Given the description of an element on the screen output the (x, y) to click on. 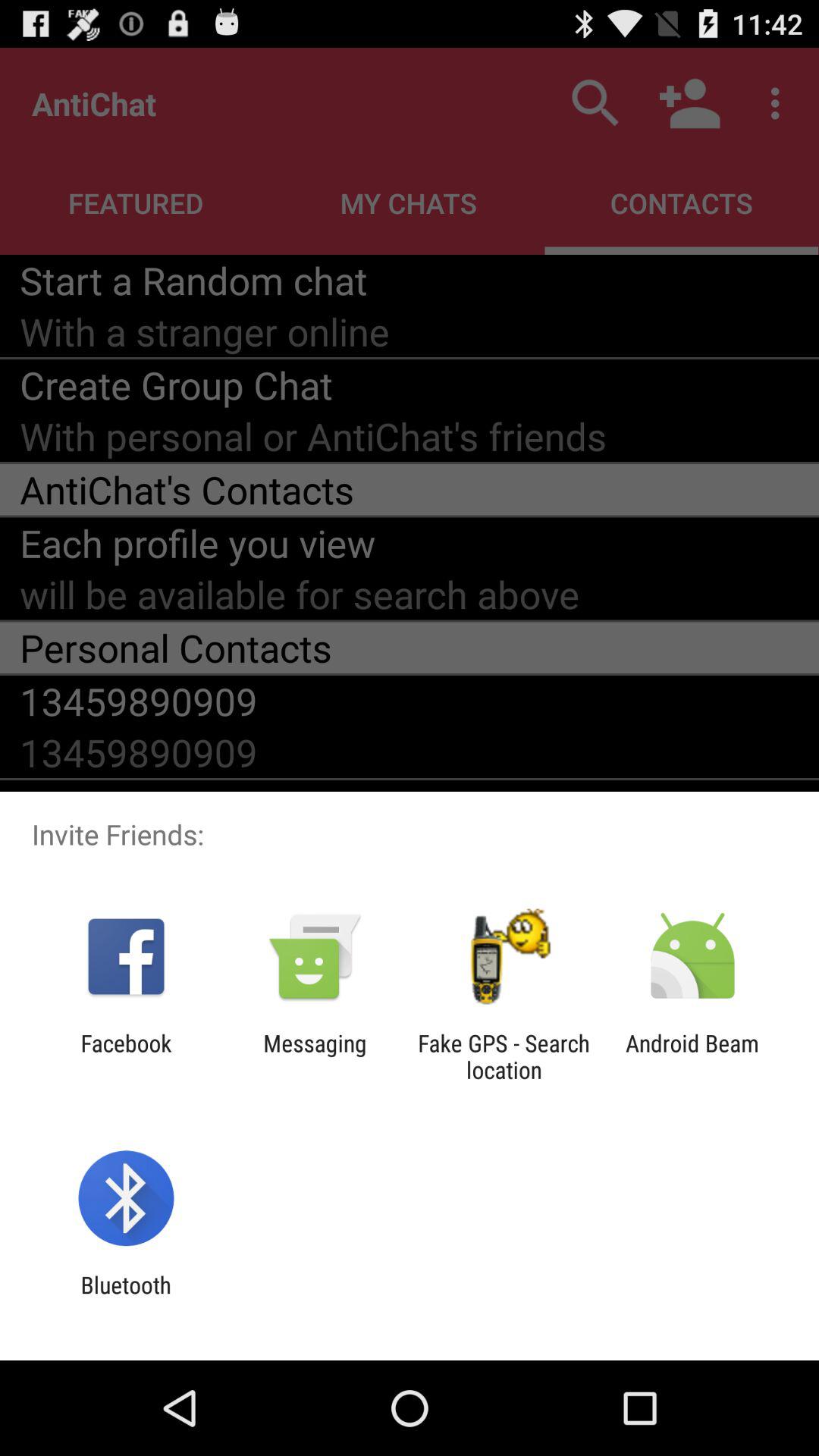
swipe until facebook app (125, 1056)
